Given the description of an element on the screen output the (x, y) to click on. 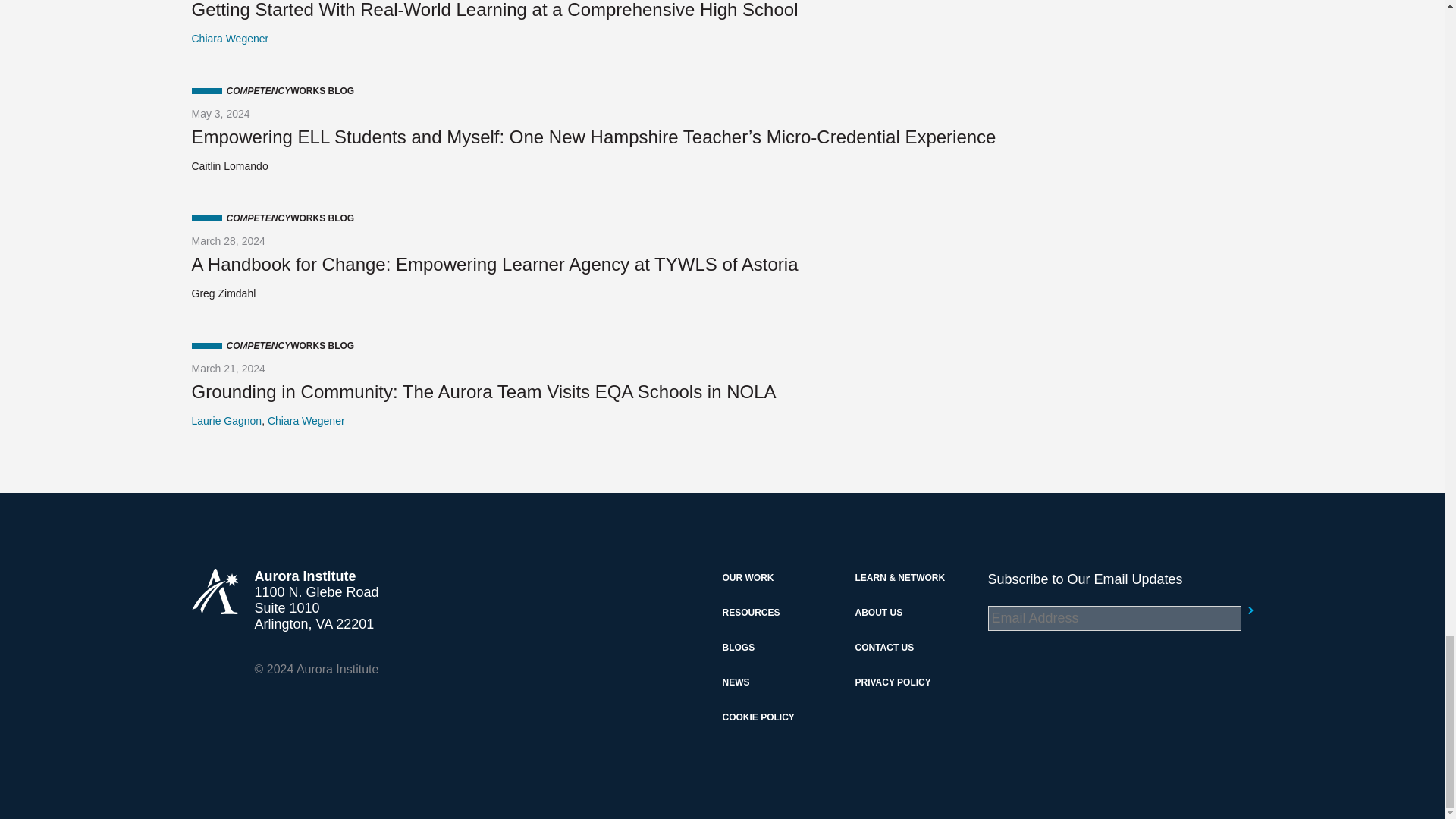
Submit (1243, 610)
